Given the description of an element on the screen output the (x, y) to click on. 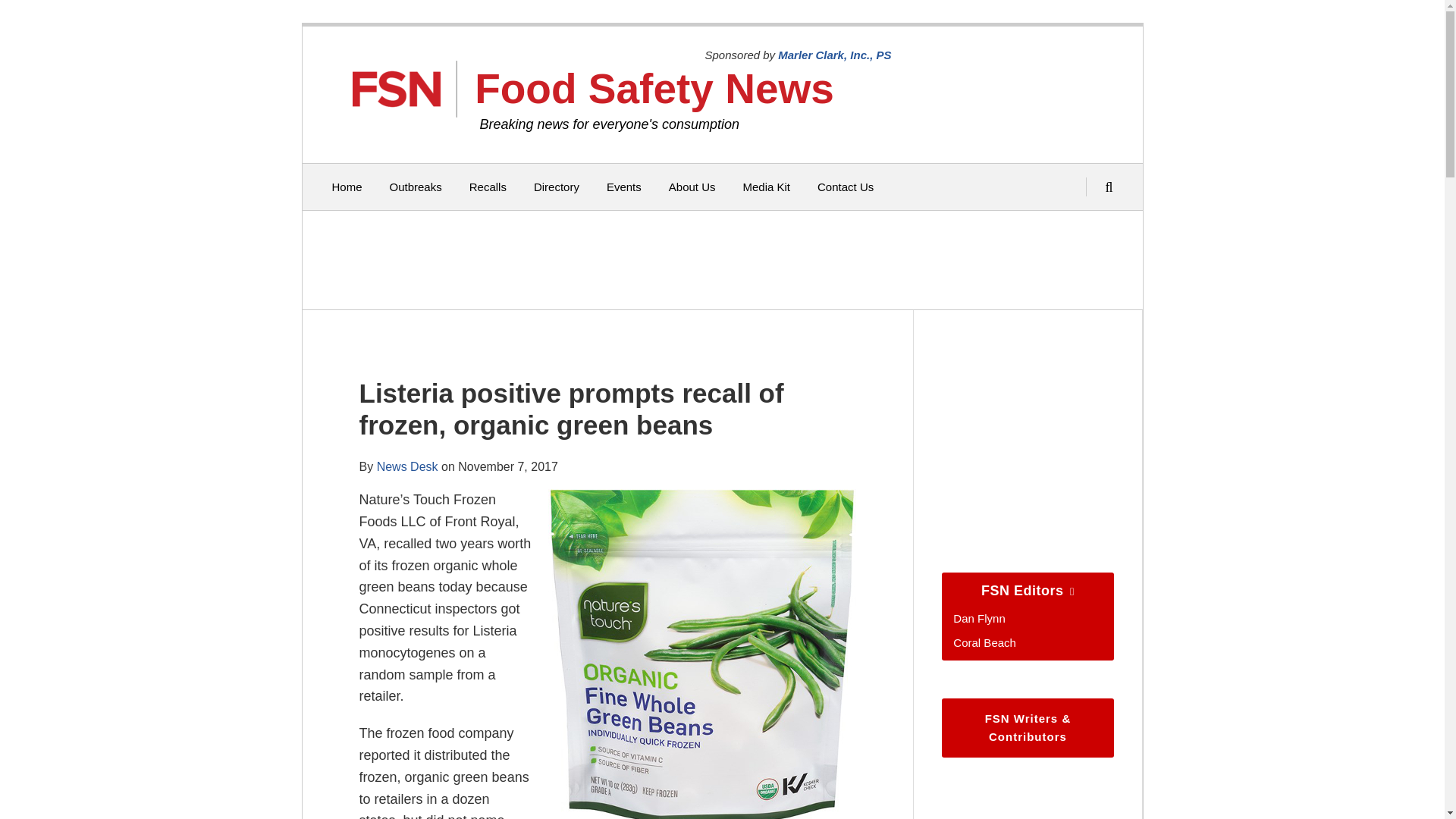
Directory (556, 187)
Events (624, 187)
Outbreaks (416, 187)
Dan Flynn (978, 617)
Coral Beach (984, 642)
Food Safety News (654, 88)
Marler Clark, Inc., PS (834, 54)
About Us (692, 187)
Contact Us (844, 187)
Media Kit (766, 187)
